Given the description of an element on the screen output the (x, y) to click on. 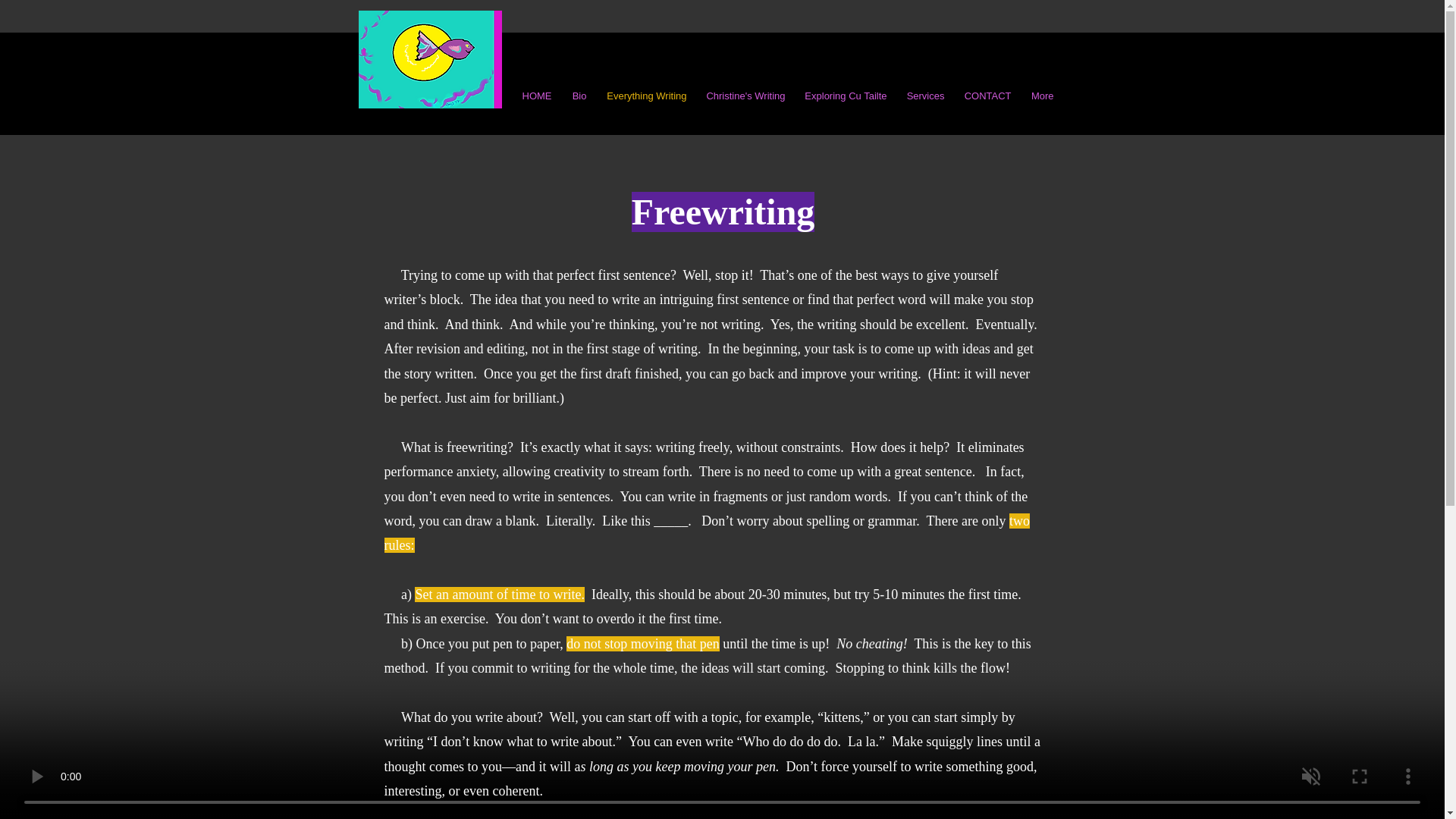
Everything Writing (644, 95)
Christine's Writing (743, 95)
Services (923, 95)
CONTACT (985, 95)
HOME (534, 95)
Exploring Cu Tailte (844, 95)
